Given the description of an element on the screen output the (x, y) to click on. 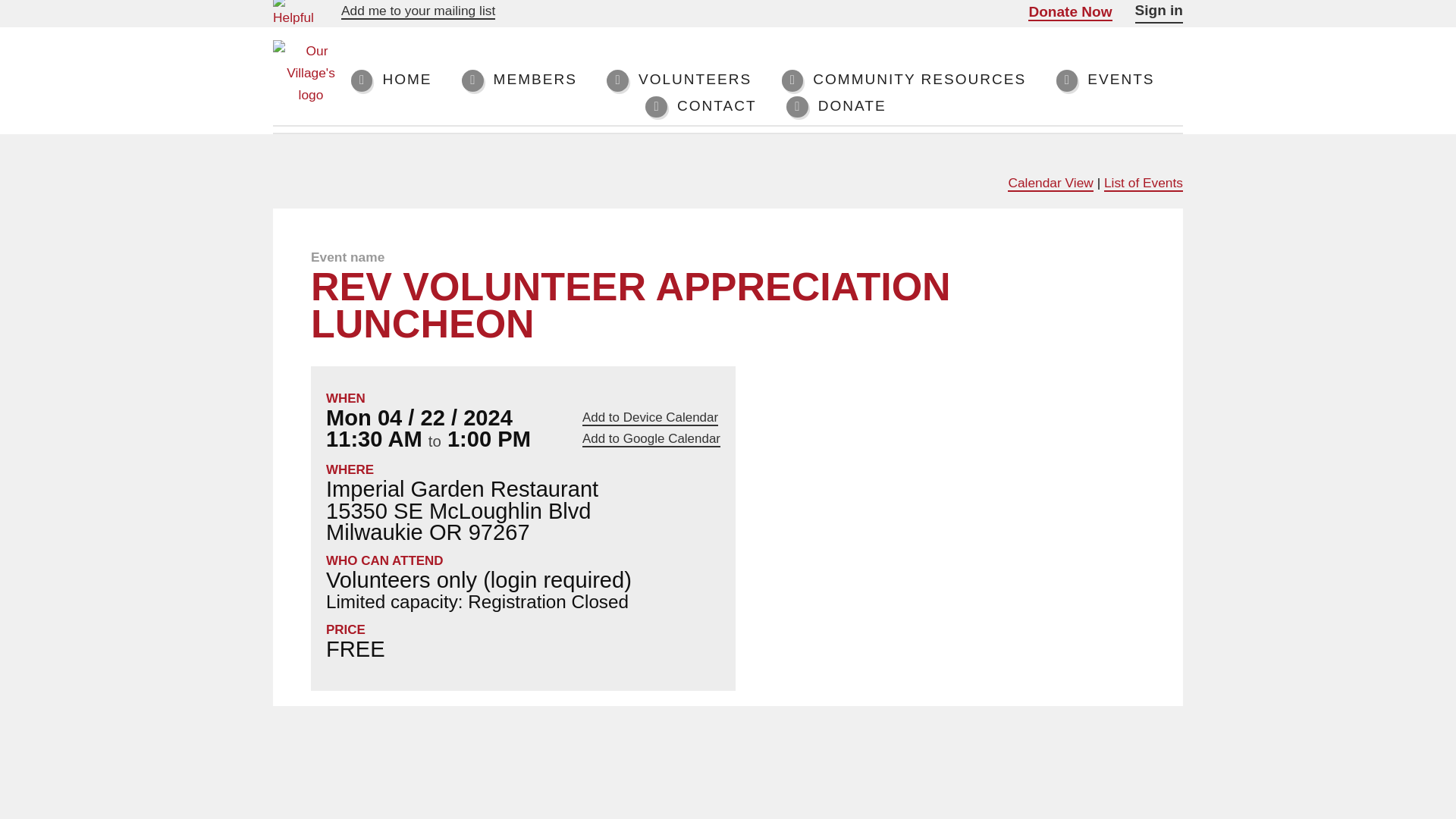
MEMBERS (518, 79)
Donate Now (1069, 12)
Sign in (1158, 11)
Add me to your mailing list (417, 11)
EVENTS (1105, 79)
CONTACT (700, 106)
HOME (391, 79)
COMMUNITY RESOURCES (903, 79)
VOLUNTEERS (679, 79)
